Given the description of an element on the screen output the (x, y) to click on. 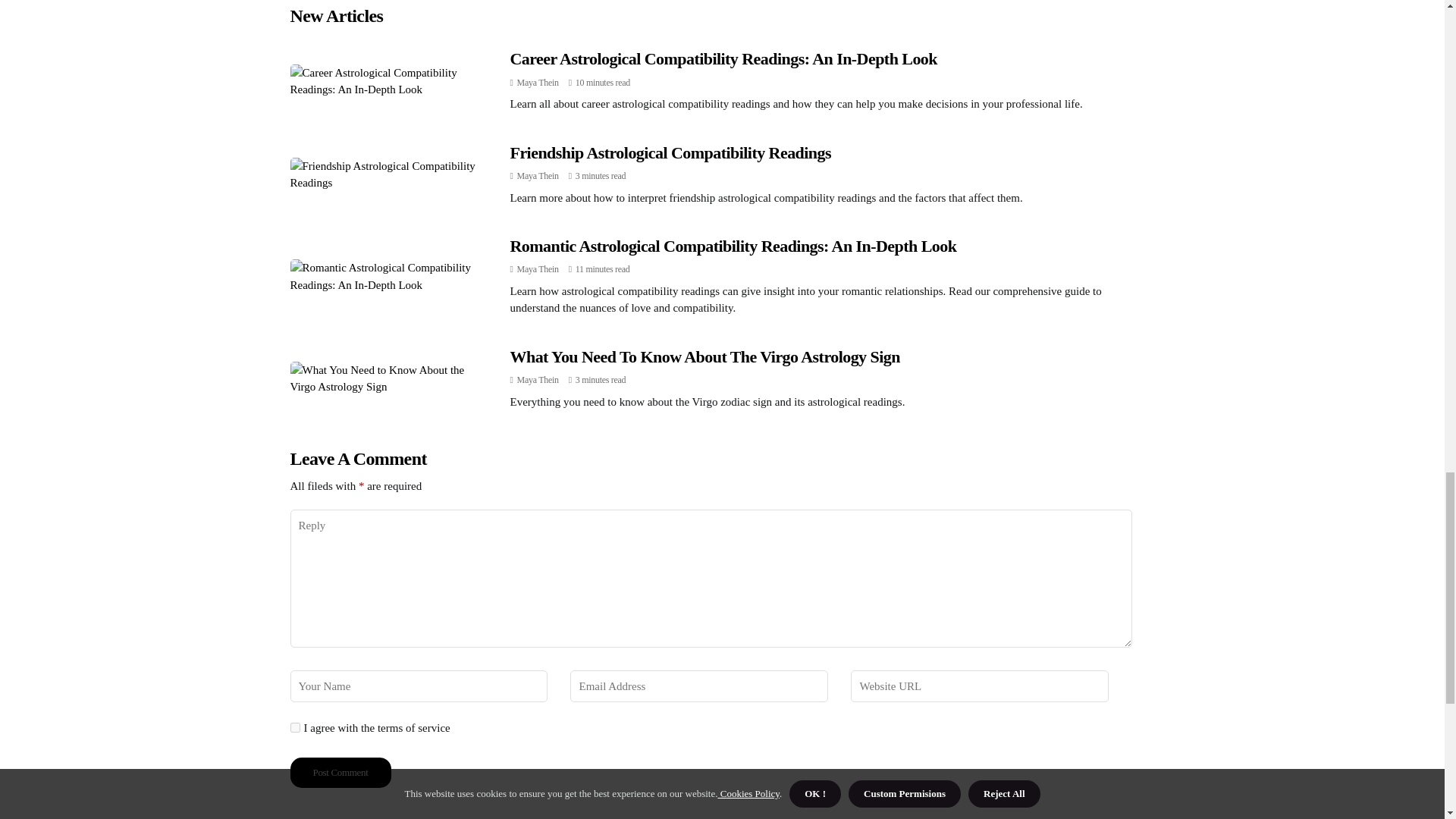
yes (294, 727)
Posts by Maya Thein (537, 379)
Posts by Maya Thein (537, 81)
Posts by Maya Thein (537, 268)
Posts by Maya Thein (537, 175)
Post Comment (339, 772)
